Given the description of an element on the screen output the (x, y) to click on. 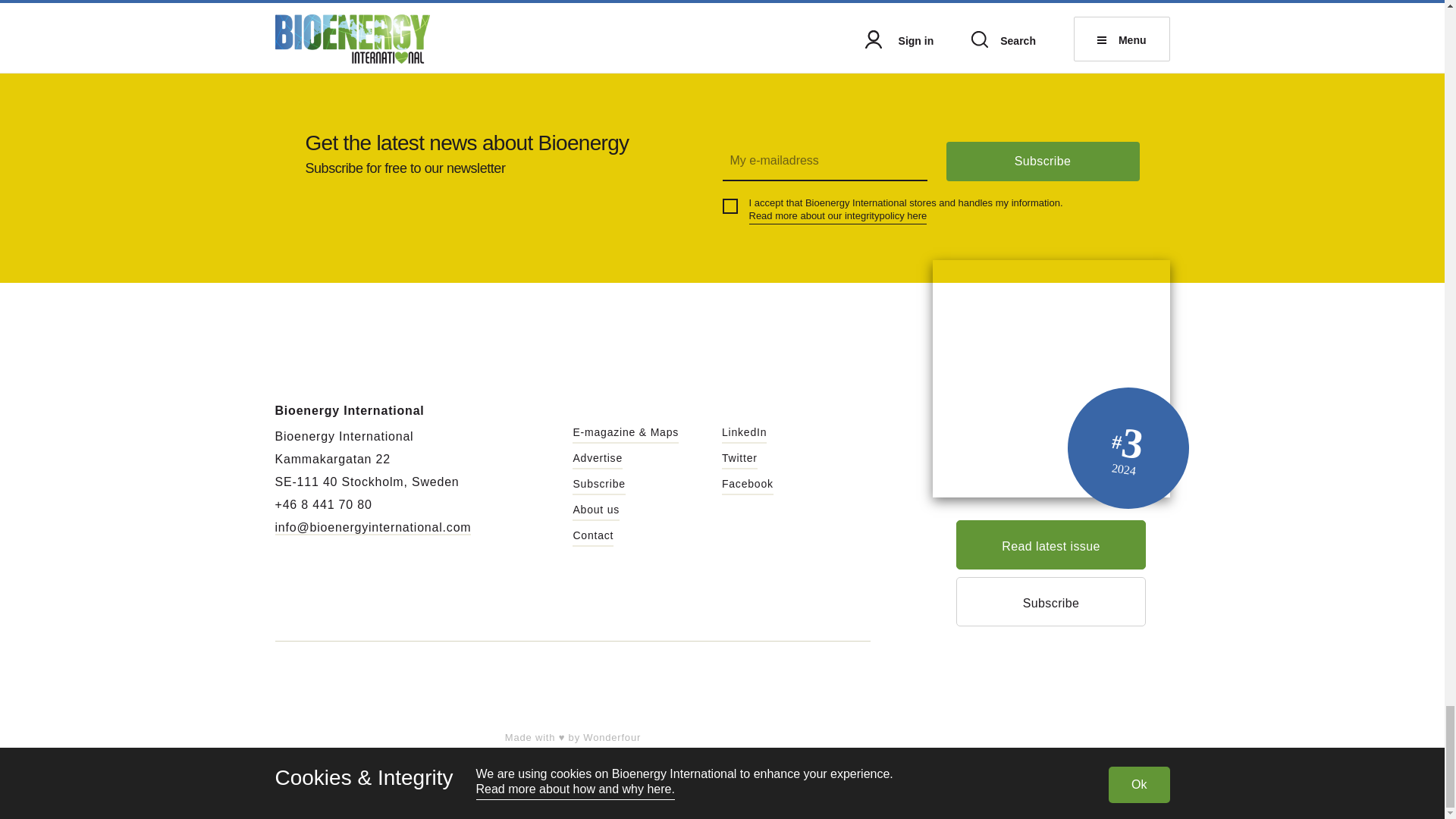
Subscribe (1043, 160)
